Given the description of an element on the screen output the (x, y) to click on. 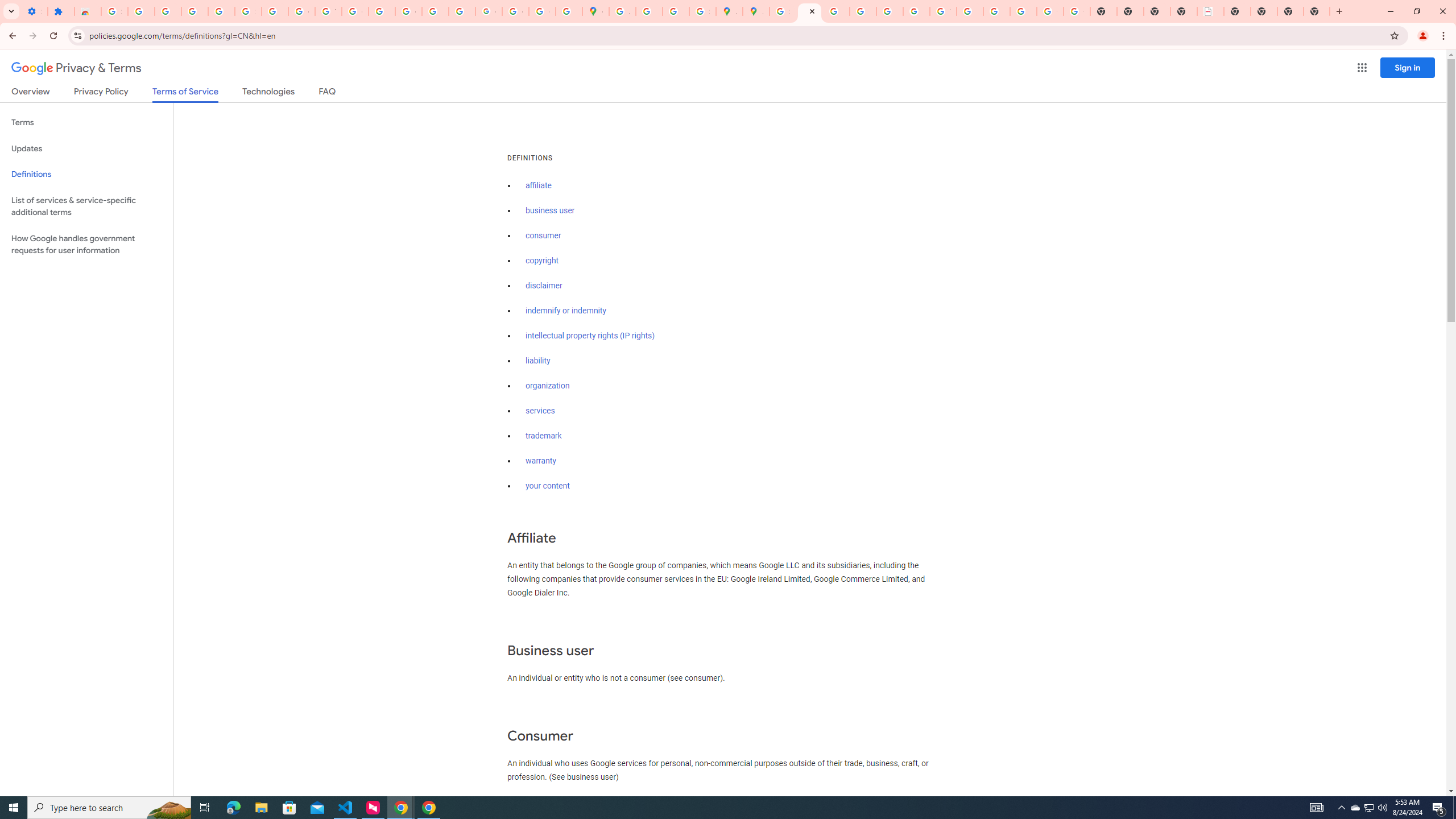
Privacy Help Center - Policies Help (862, 11)
List of services & service-specific additional terms (86, 206)
New Tab (1290, 11)
Browse Chrome as a guest - Computer - Google Chrome Help (970, 11)
Google Account (301, 11)
